Given the description of an element on the screen output the (x, y) to click on. 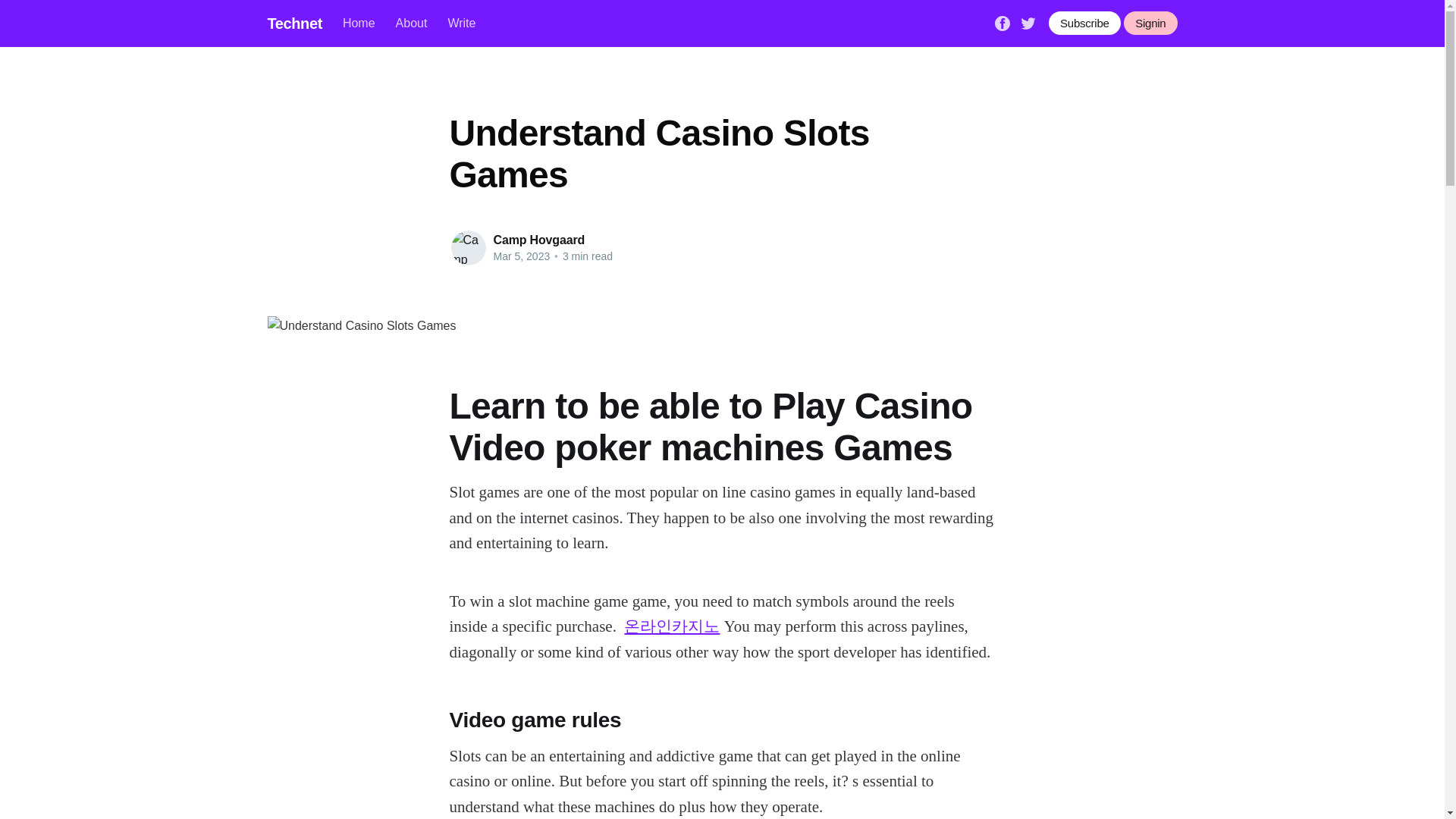
About (412, 22)
Home (358, 22)
Technet (293, 23)
Signin (1150, 23)
Subscribe (1084, 23)
Facebook (1002, 21)
Twitter (1028, 21)
Write (461, 22)
Camp Hovgaard (539, 239)
